Given the description of an element on the screen output the (x, y) to click on. 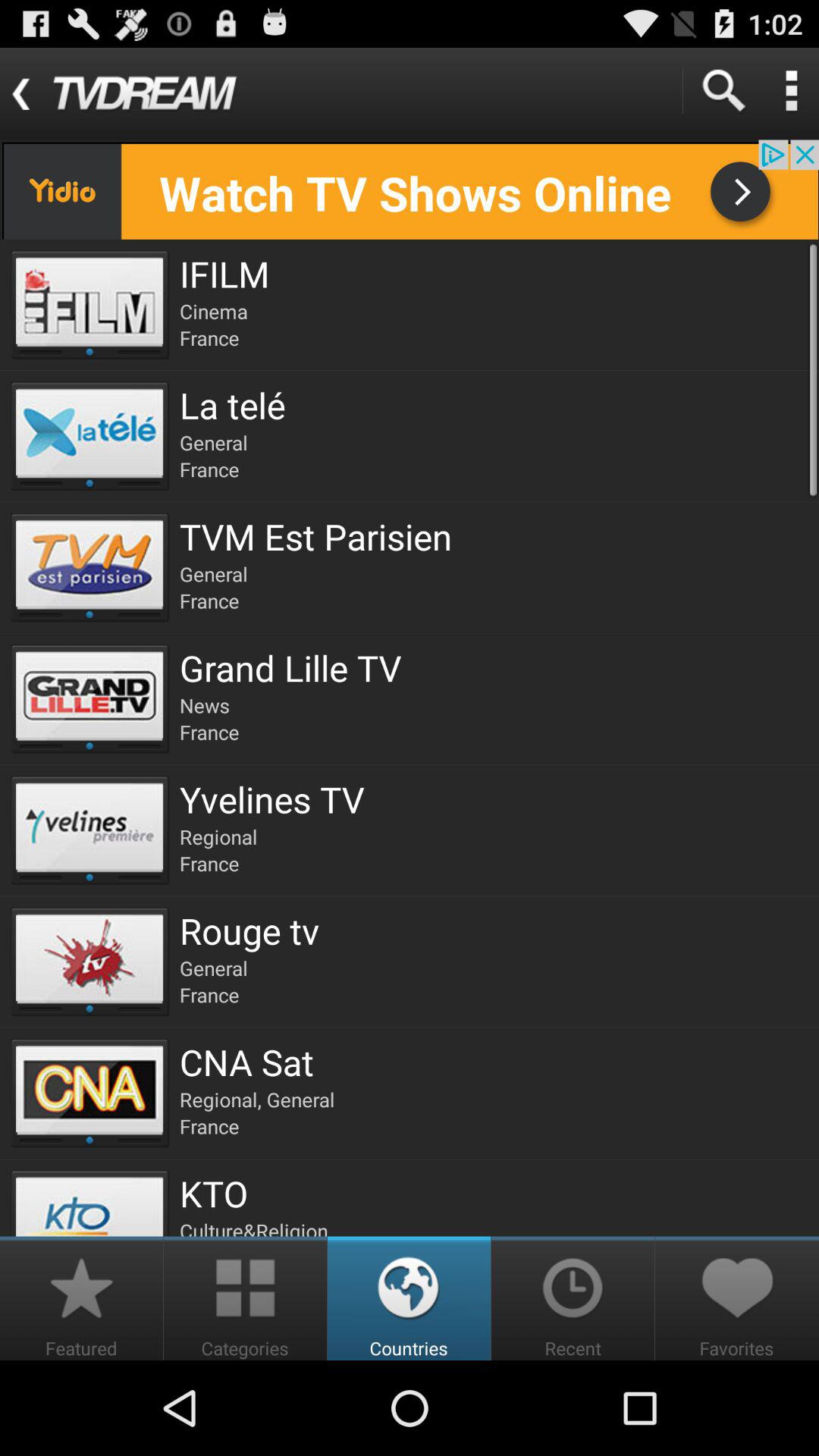
go to previous (409, 189)
